Given the description of an element on the screen output the (x, y) to click on. 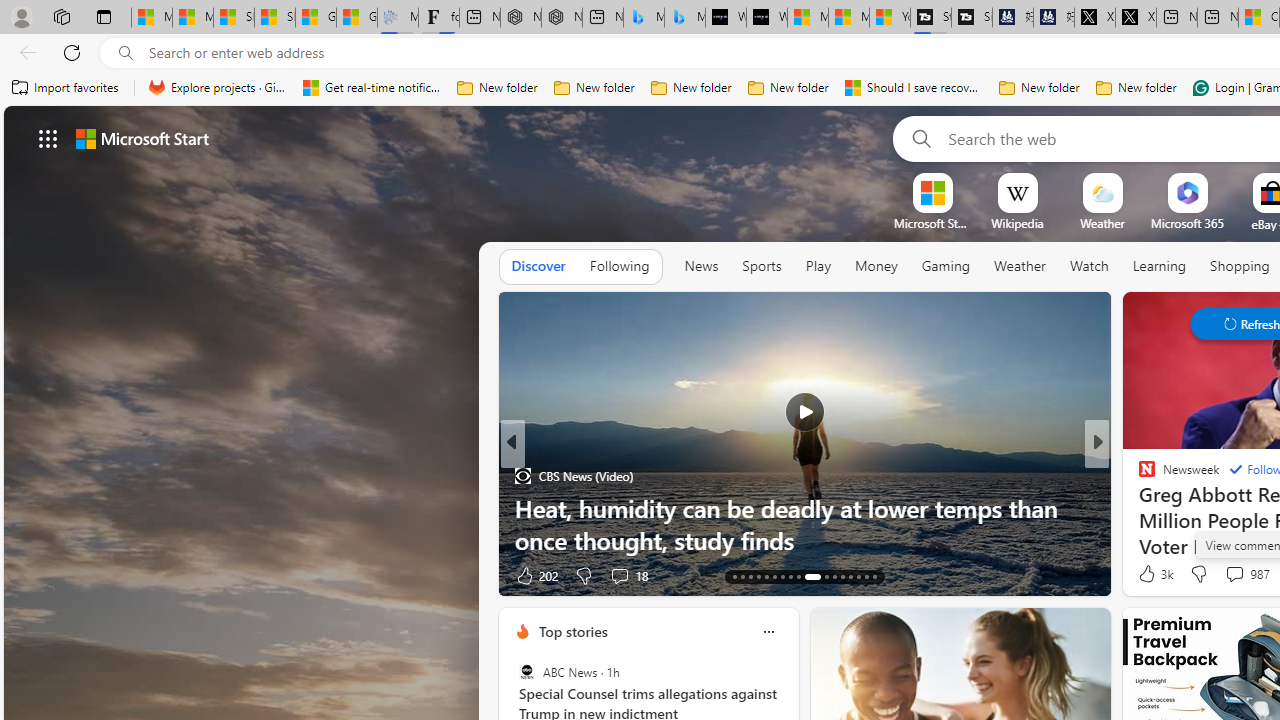
What's the best AI voice generator? - voice.ai (767, 17)
You're following Newsweek (445, 579)
Discover (538, 267)
Dislike (1198, 574)
Import favorites (65, 88)
AutomationID: tab-14 (742, 576)
This story is trending (449, 579)
Microsoft Start Sports (808, 17)
Money (876, 267)
AutomationID: tab-19 (782, 576)
Wikipedia (1017, 223)
Microsoft Bing Travel - Shangri-La Hotel Bangkok (684, 17)
News (701, 267)
Workspaces (61, 16)
